Given the description of an element on the screen output the (x, y) to click on. 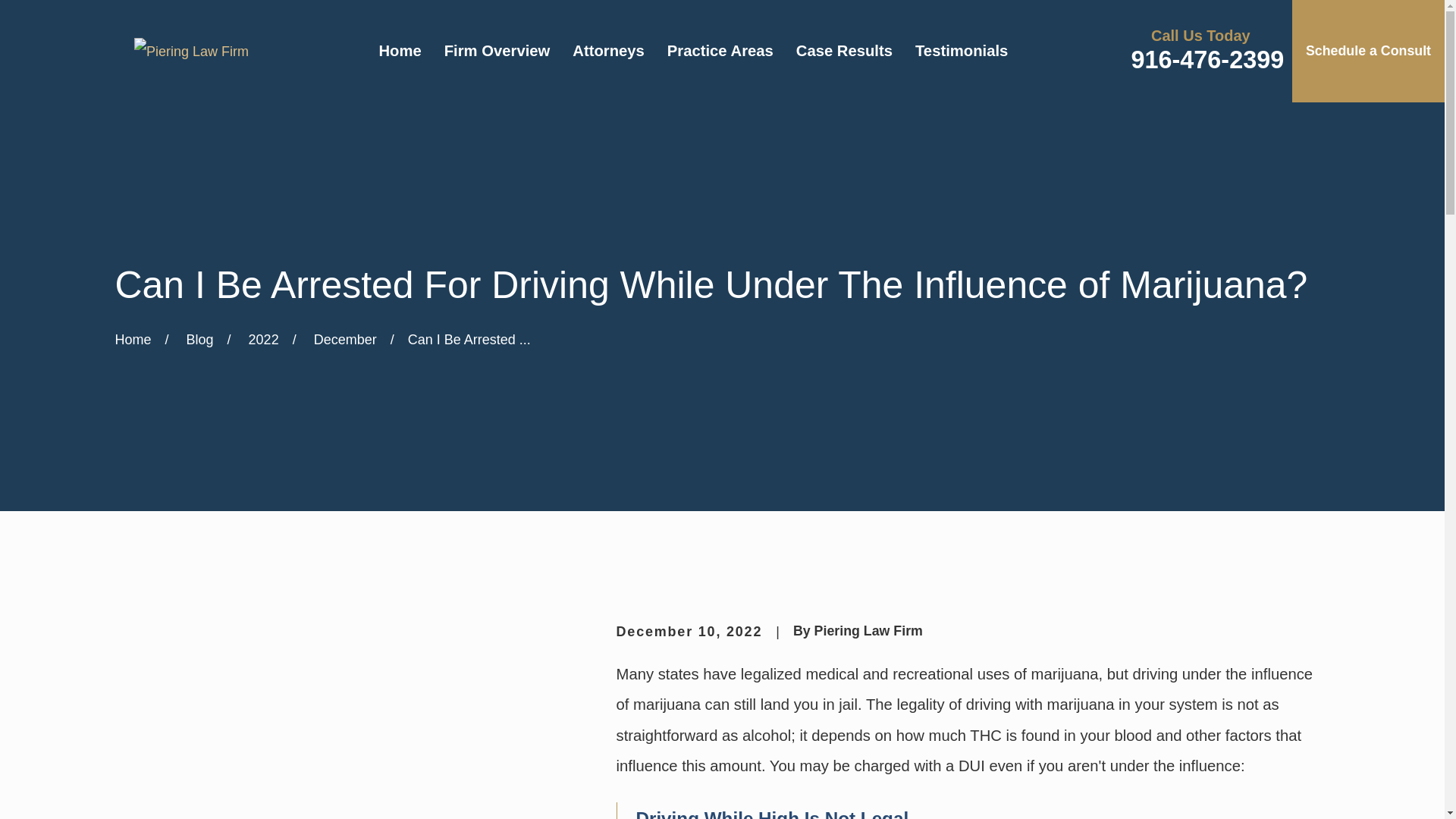
Go Home (133, 339)
Testimonials (961, 51)
Practice Areas (719, 51)
Home (190, 51)
Case Results (844, 51)
Firm Overview (497, 51)
